Given the description of an element on the screen output the (x, y) to click on. 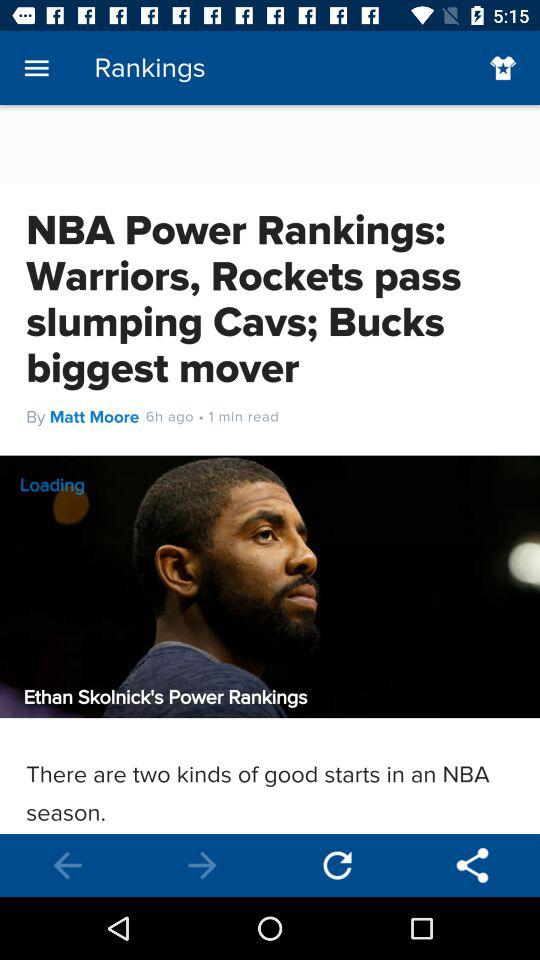
refresh the current page (337, 865)
